Given the description of an element on the screen output the (x, y) to click on. 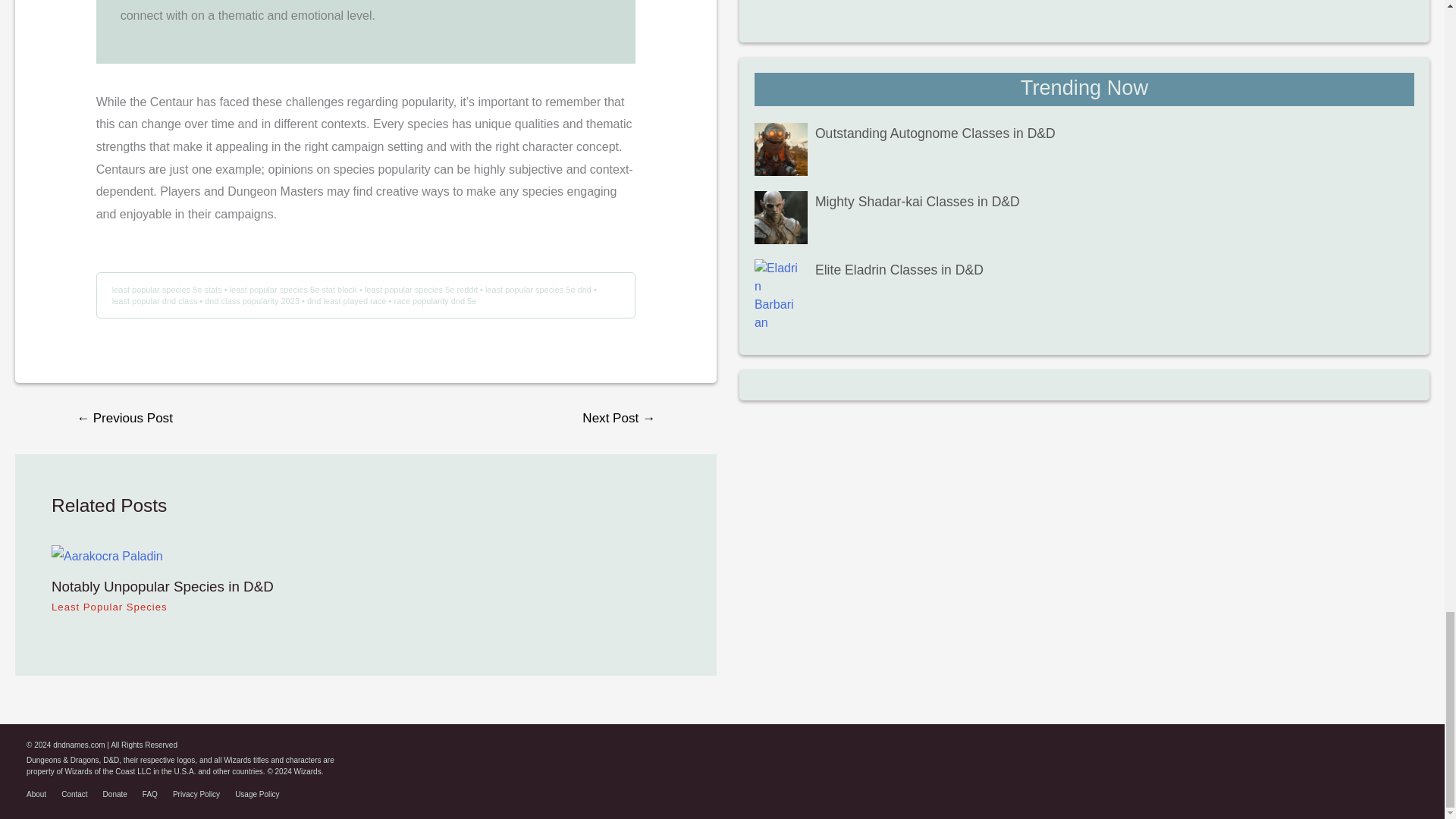
Share to Twitter (1311, 756)
Share to Email (1402, 756)
Share to Facebook (1342, 756)
Share on Reddit (1371, 756)
Follow on Instagram (1281, 756)
